Given the description of an element on the screen output the (x, y) to click on. 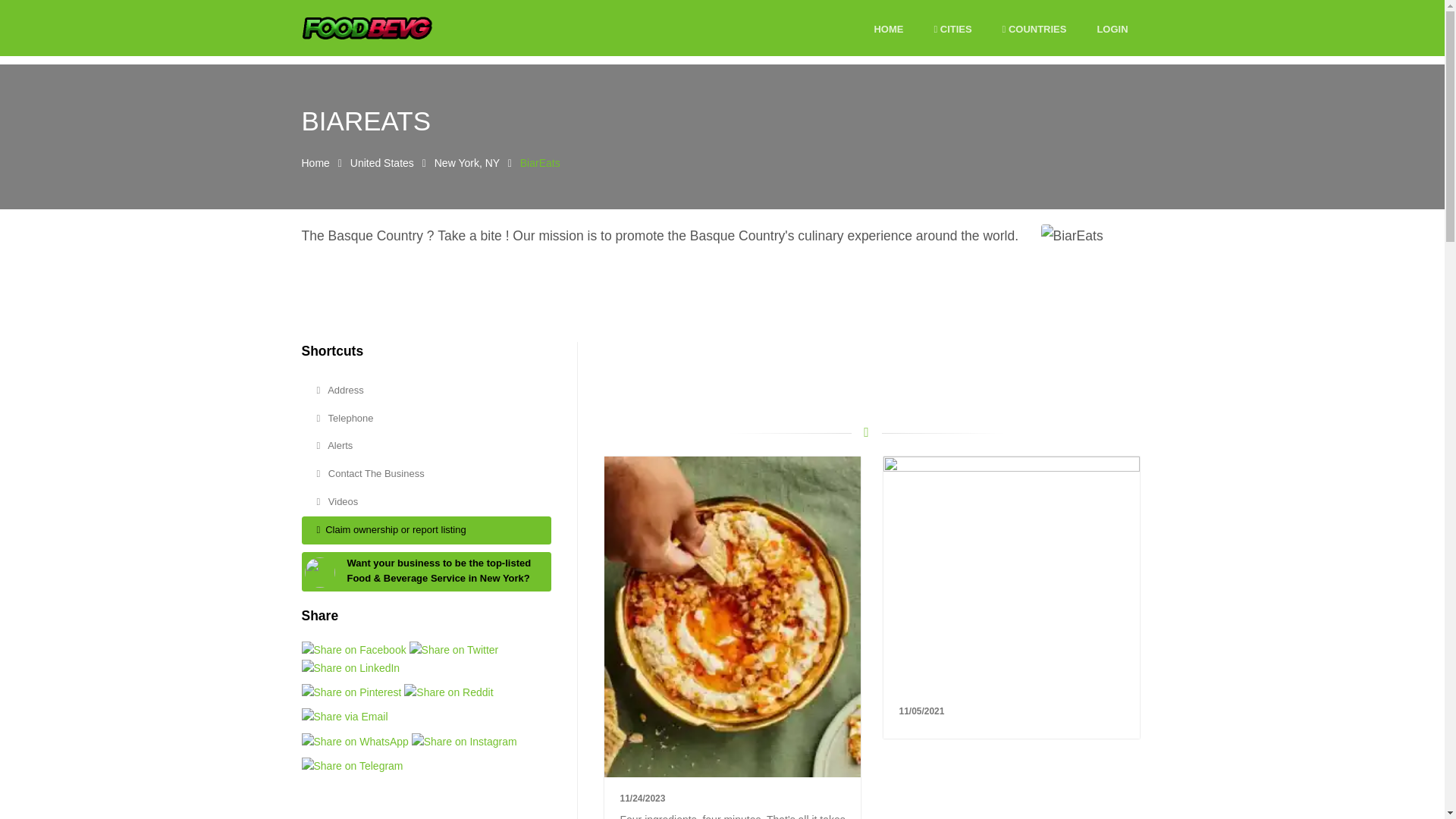
Contact The Business (426, 474)
Home (315, 162)
New York, NY (466, 162)
CITIES (952, 29)
Videos (426, 502)
Address (426, 390)
HOME (887, 29)
Alerts (426, 446)
United States (381, 162)
Claim ownership or report listing (426, 530)
